Given the description of an element on the screen output the (x, y) to click on. 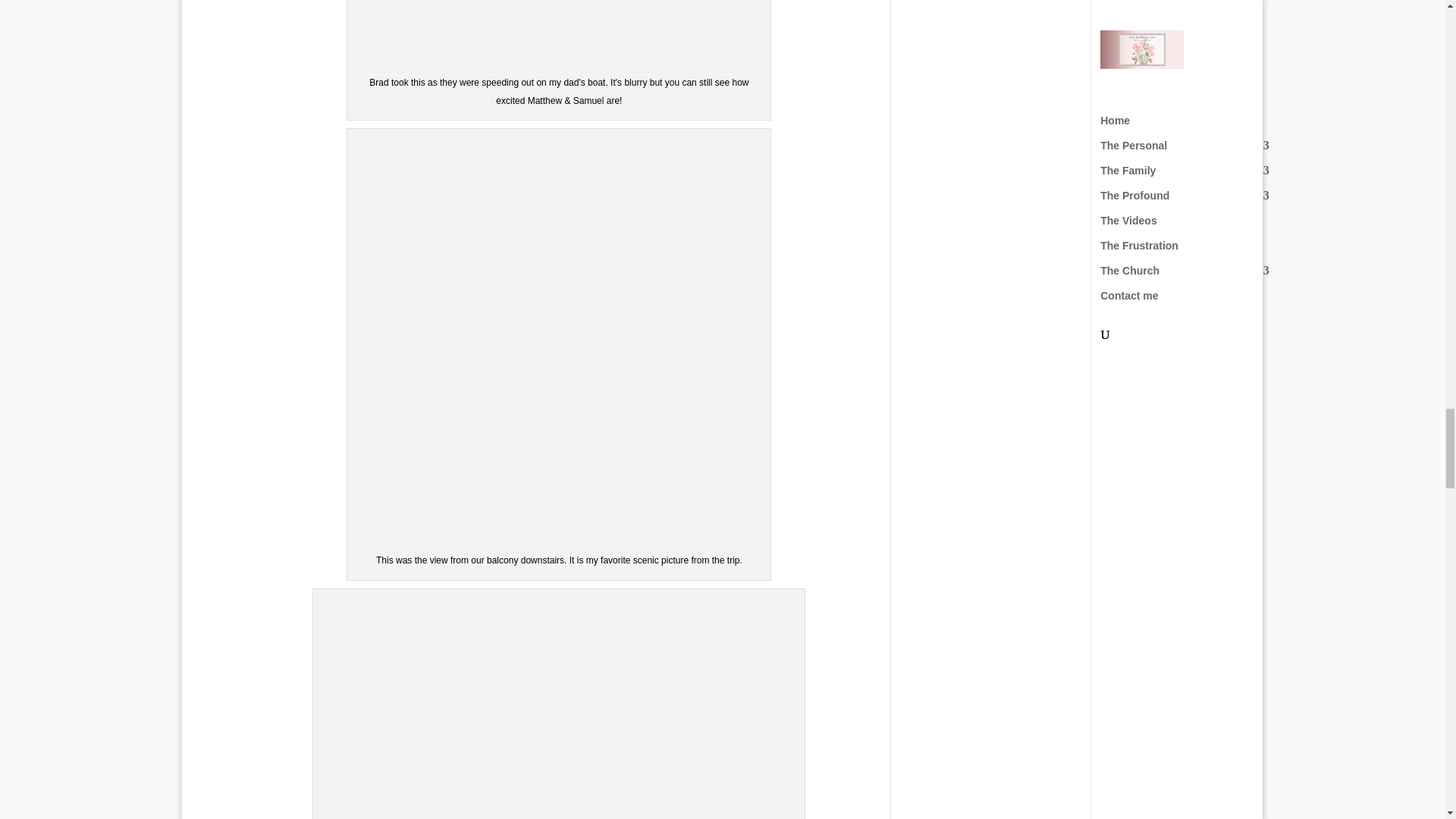
Tug boat and construction platform (557, 707)
Terrible pic, but cute boys! (558, 33)
